Given the description of an element on the screen output the (x, y) to click on. 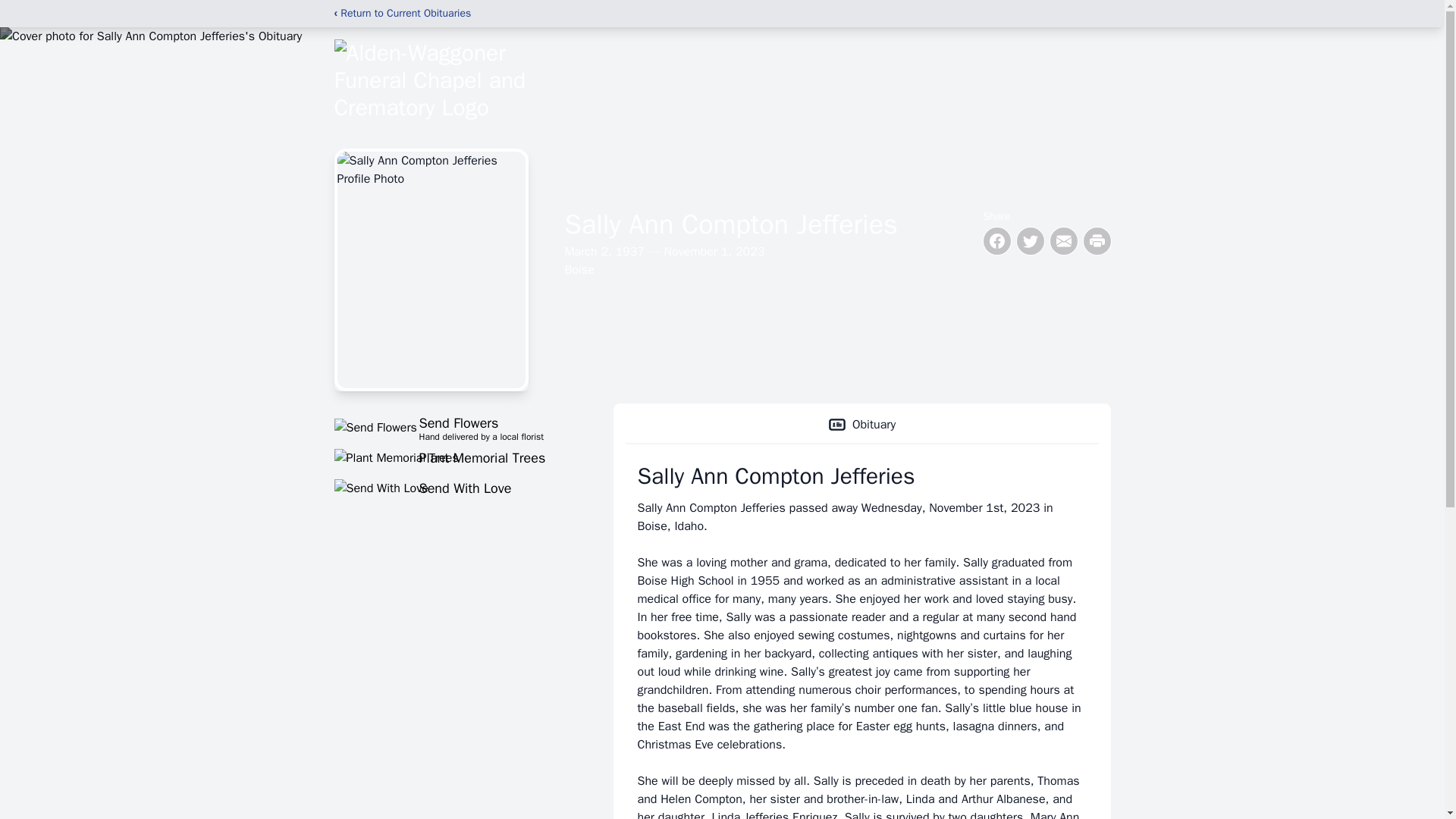
Plant Memorial Trees (454, 427)
Obituary (454, 457)
Send With Love (860, 425)
